Given the description of an element on the screen output the (x, y) to click on. 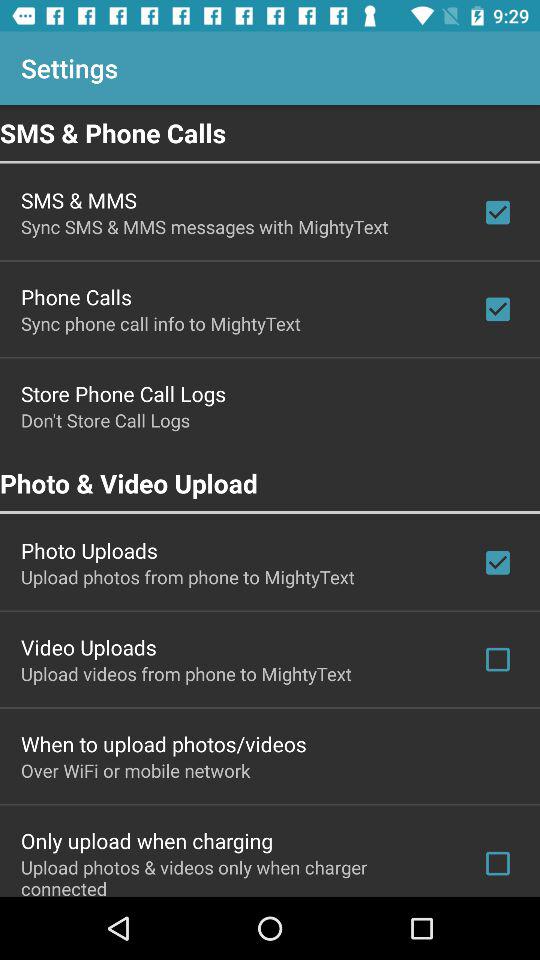
tap the app above the only upload when app (135, 770)
